Given the description of an element on the screen output the (x, y) to click on. 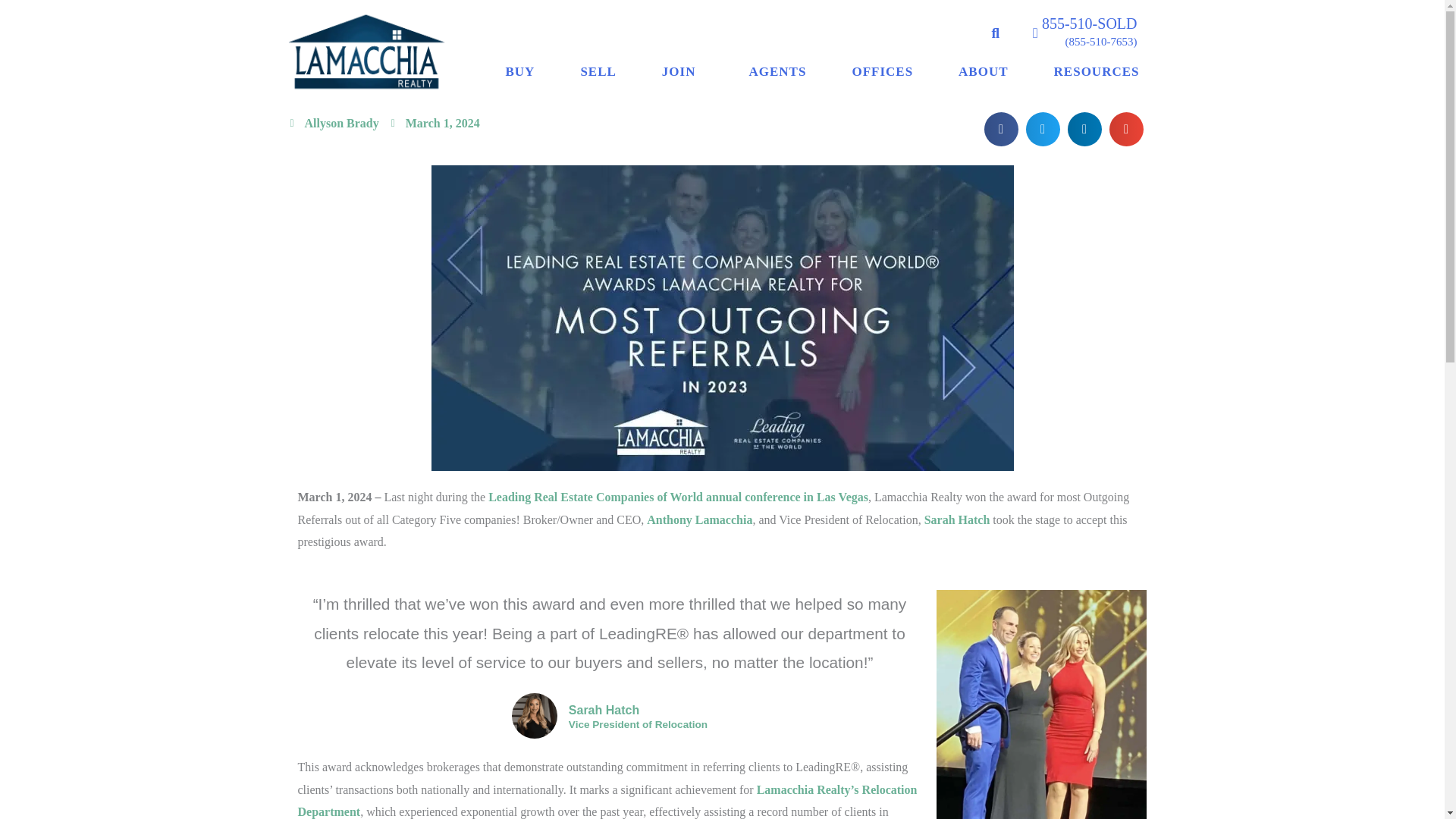
BUY (519, 71)
March 1, 2024 (435, 123)
RESOURCES (1096, 71)
Vice President of Relocation (638, 724)
Sarah Hatch (957, 519)
JOIN (682, 71)
ABOUT (983, 71)
Sarah Hatch (638, 710)
Anthony Lamacchia (699, 519)
OFFICES (881, 71)
AGENTS (777, 71)
SELL (597, 71)
Allyson Brady (333, 123)
